Given the description of an element on the screen output the (x, y) to click on. 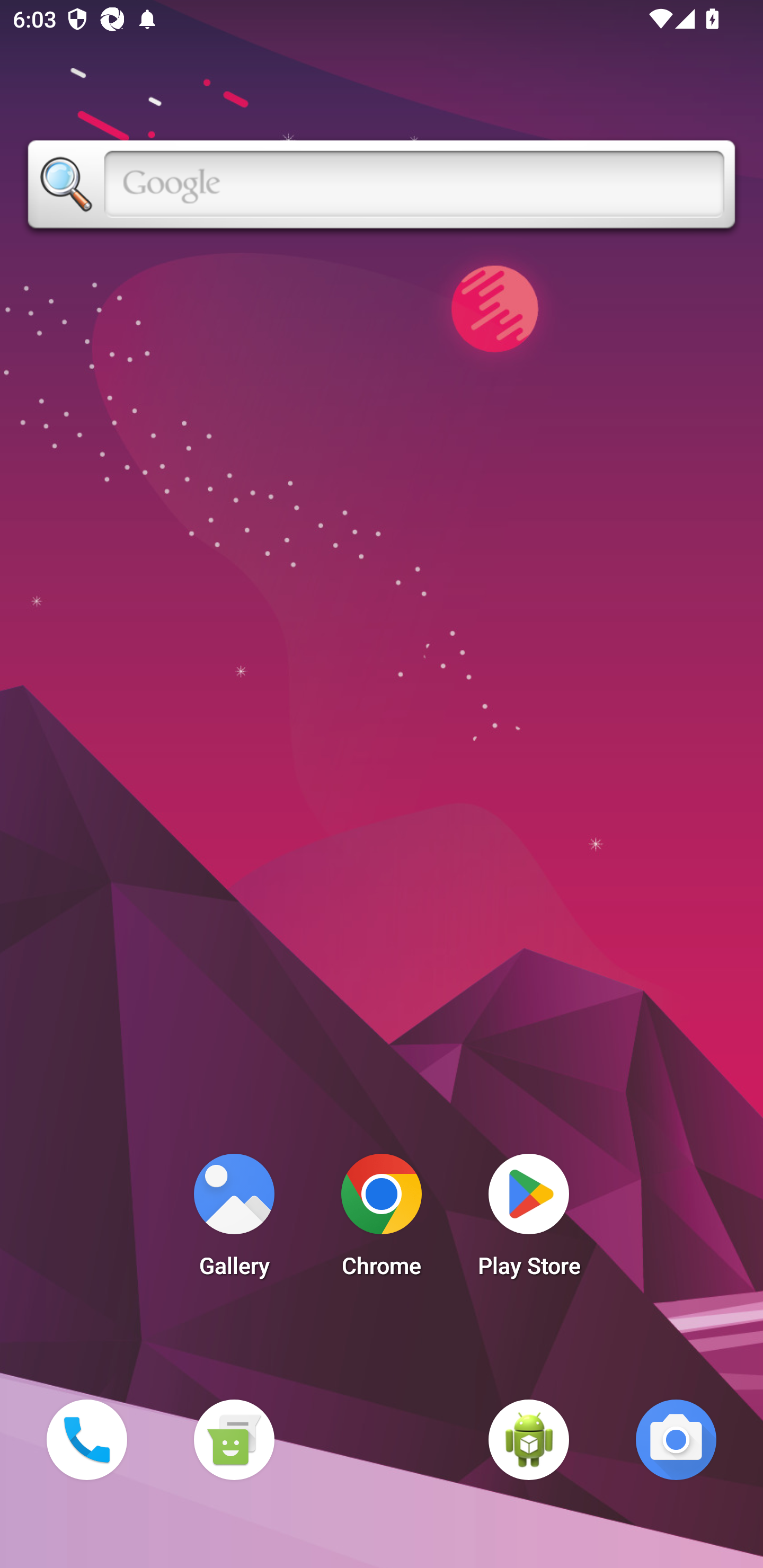
Gallery (233, 1220)
Chrome (381, 1220)
Play Store (528, 1220)
Phone (86, 1439)
Messaging (233, 1439)
WebView Browser Tester (528, 1439)
Camera (676, 1439)
